Given the description of an element on the screen output the (x, y) to click on. 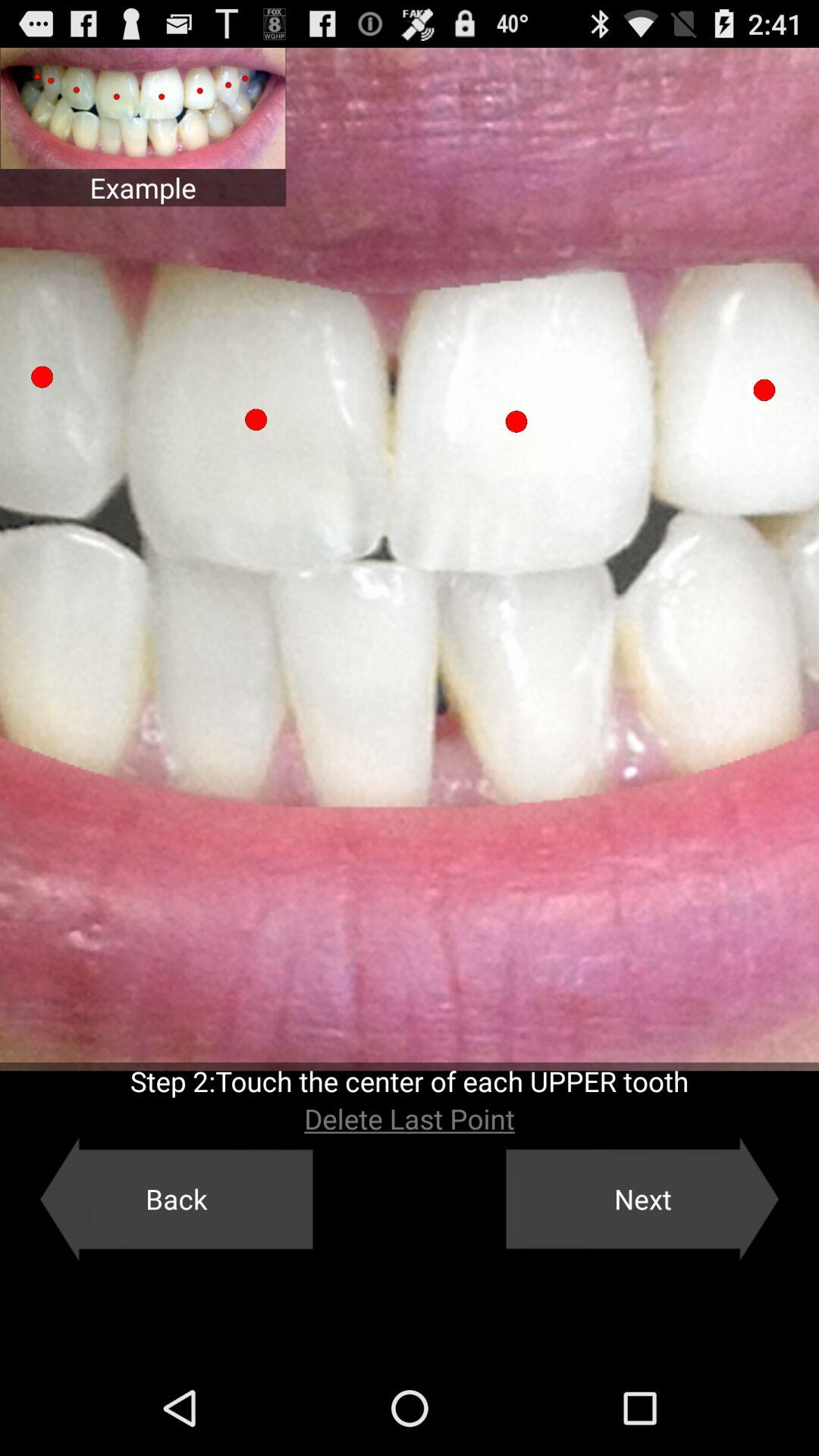
flip until the back icon (175, 1198)
